Given the description of an element on the screen output the (x, y) to click on. 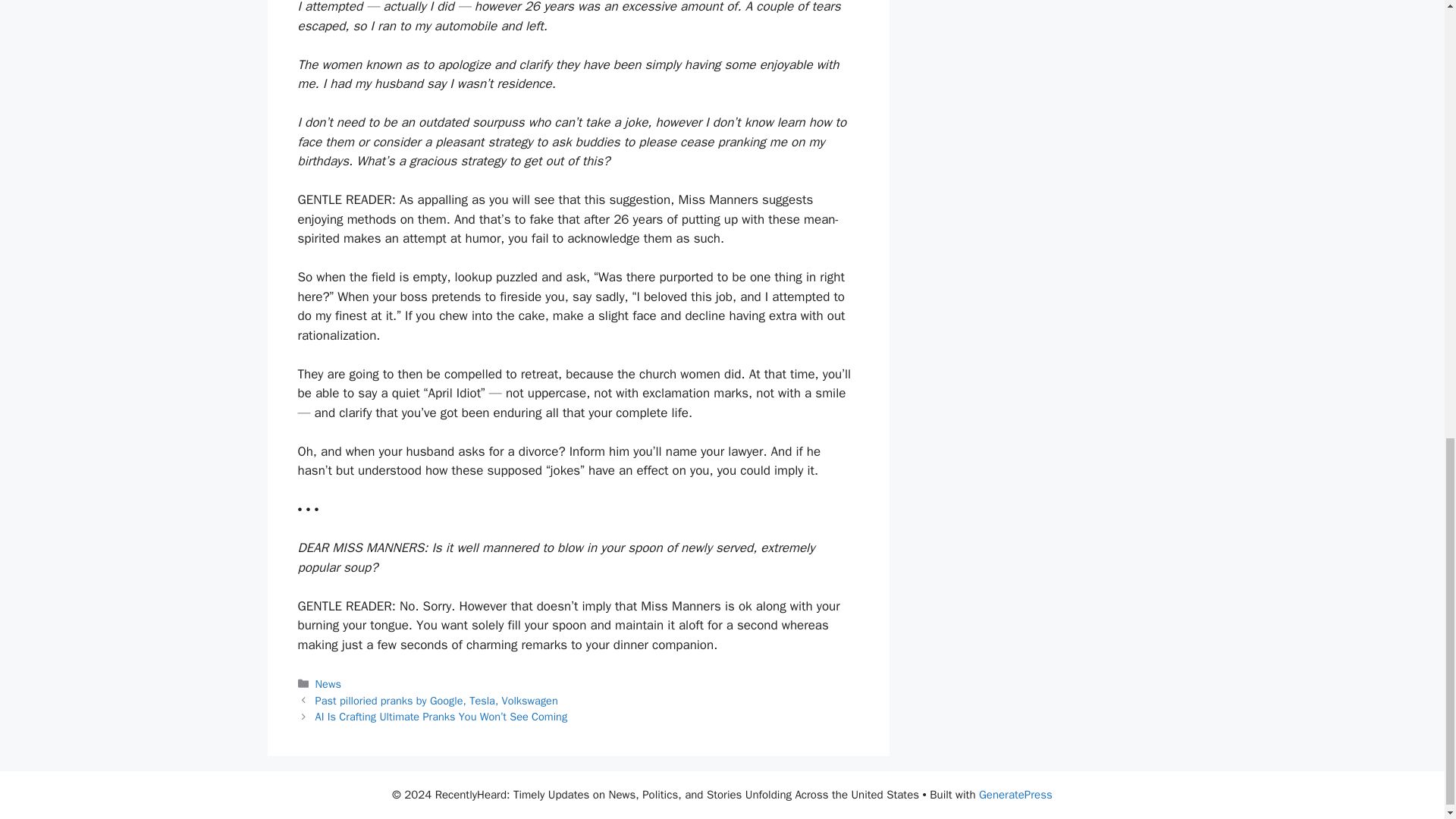
Past pilloried pranks by Google, Tesla, Volkswagen (436, 700)
GeneratePress (1015, 794)
News (327, 684)
